Given the description of an element on the screen output the (x, y) to click on. 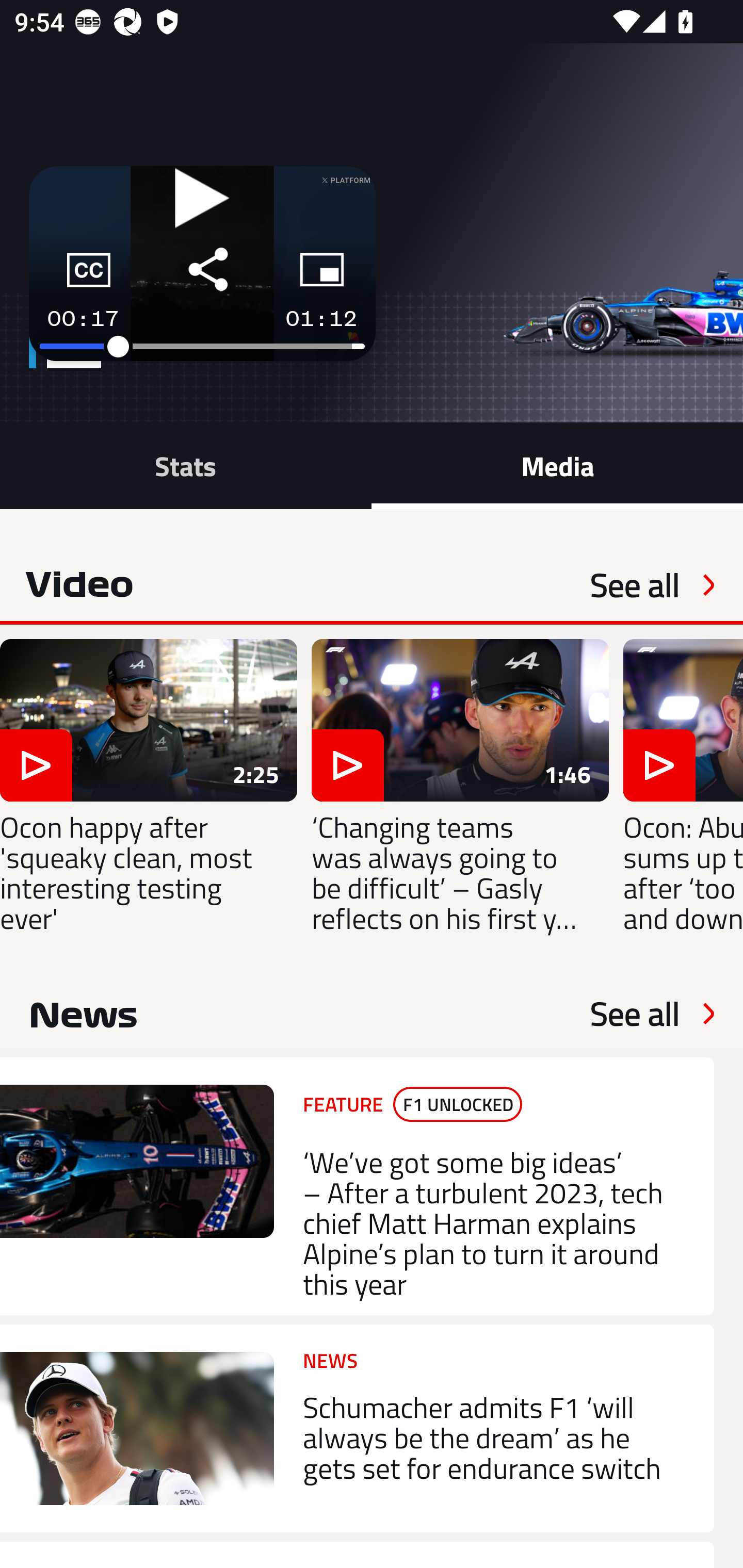
Stats (185, 465)
See all (634, 584)
See all (634, 1013)
